Given the description of an element on the screen output the (x, y) to click on. 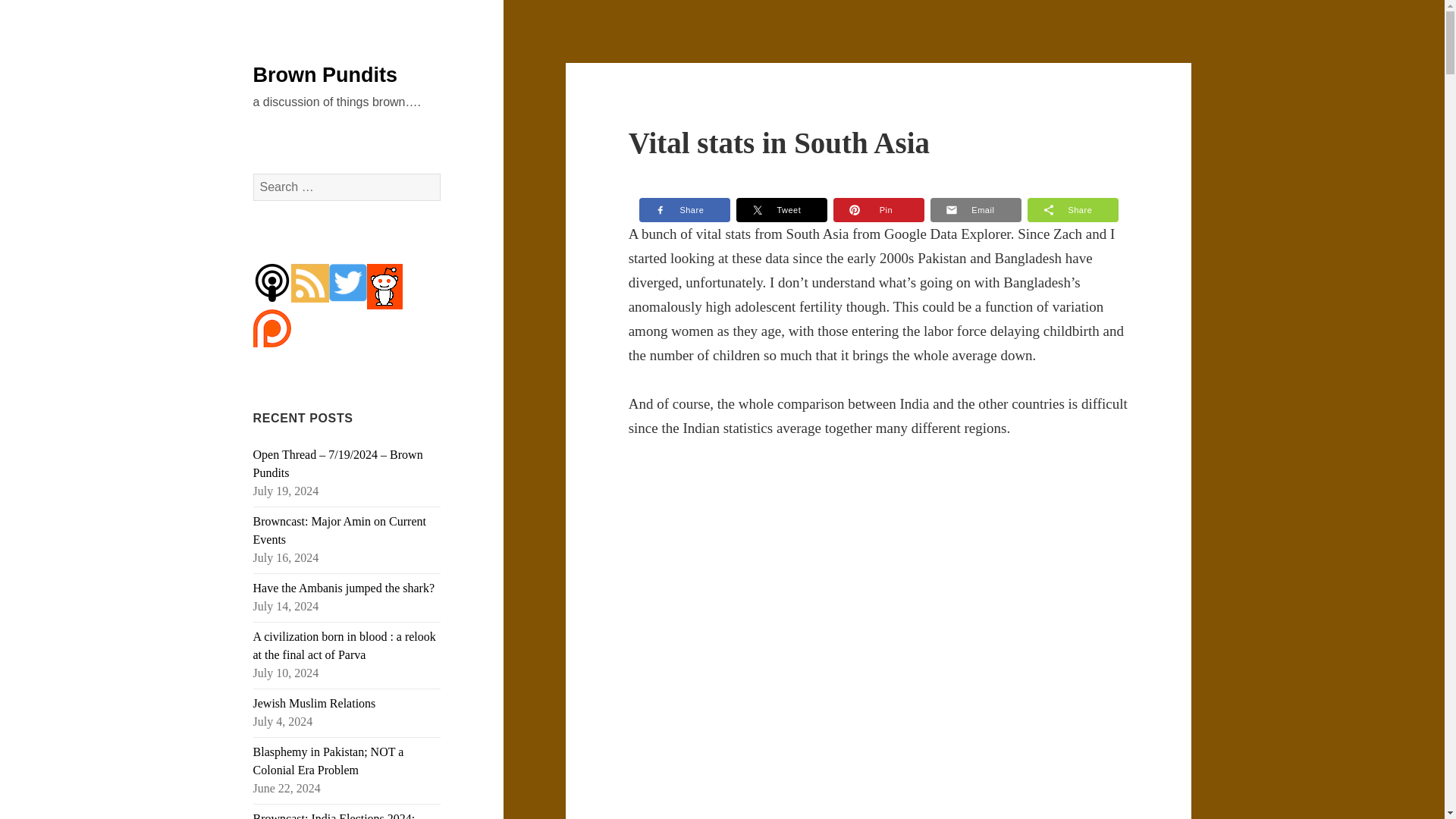
Jewish Muslim Relations (314, 703)
Have the Ambanis jumped the shark? (344, 587)
Browncast: Major Amin on Current Events (339, 530)
Browncast: India Elections 2024; Ashvamedha Interrupted (333, 815)
Brown Pundits (325, 74)
Blasphemy in Pakistan; NOT a Colonial Era Problem (328, 760)
